Given the description of an element on the screen output the (x, y) to click on. 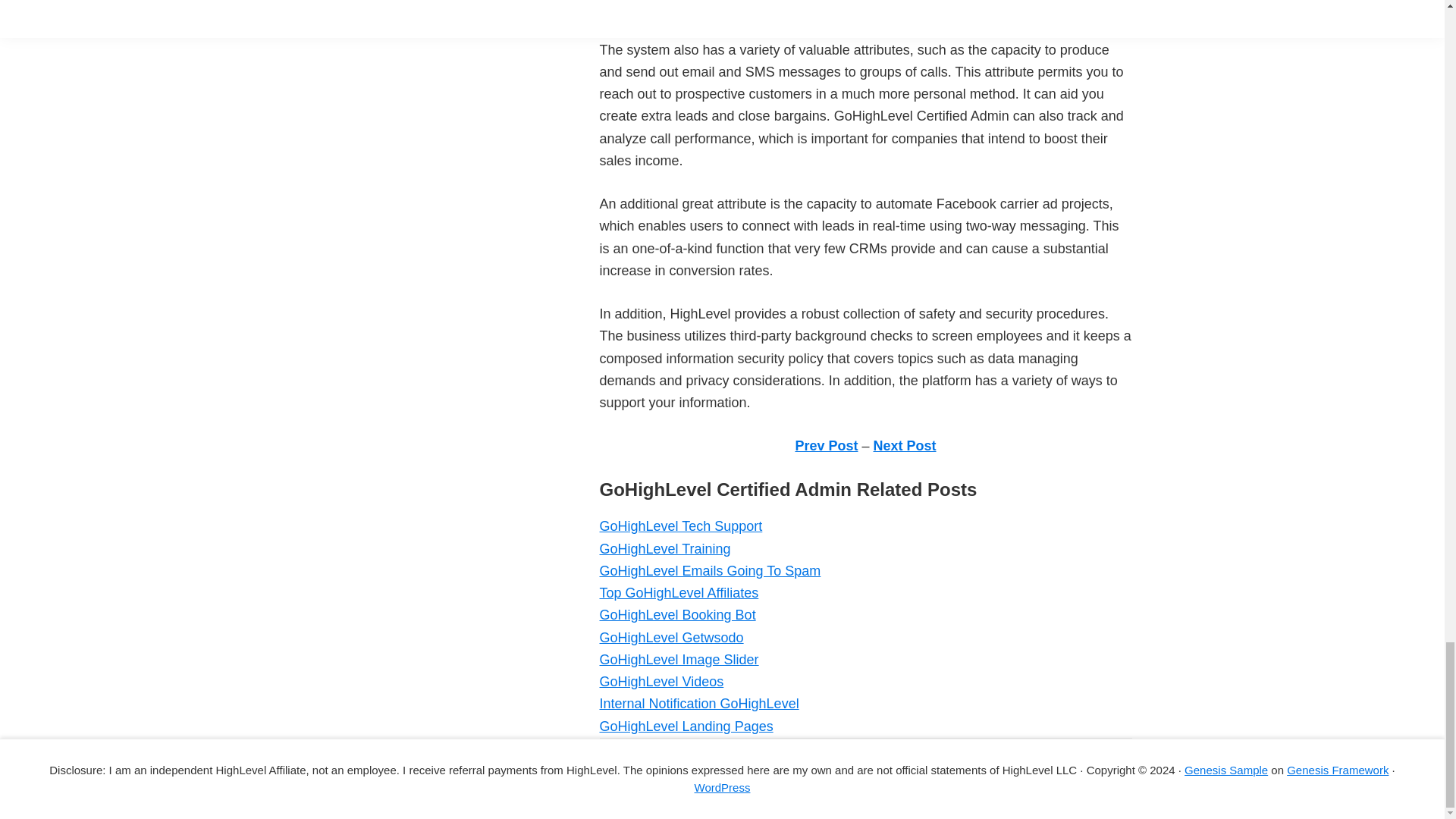
Top GoHighLevel Affiliates (678, 592)
GoHighLevel Training (664, 548)
Internal Notification GoHighLevel (697, 703)
GoHighLevel Landing Pages (685, 726)
GoHighLevel Tech Support (679, 525)
GoHighLevel Image Slider (678, 659)
Prev Post (825, 445)
GoHighLevel Emails Going To Spam (709, 570)
GoHighLevel Booking Bot (676, 614)
Next Post (904, 445)
